Given the description of an element on the screen output the (x, y) to click on. 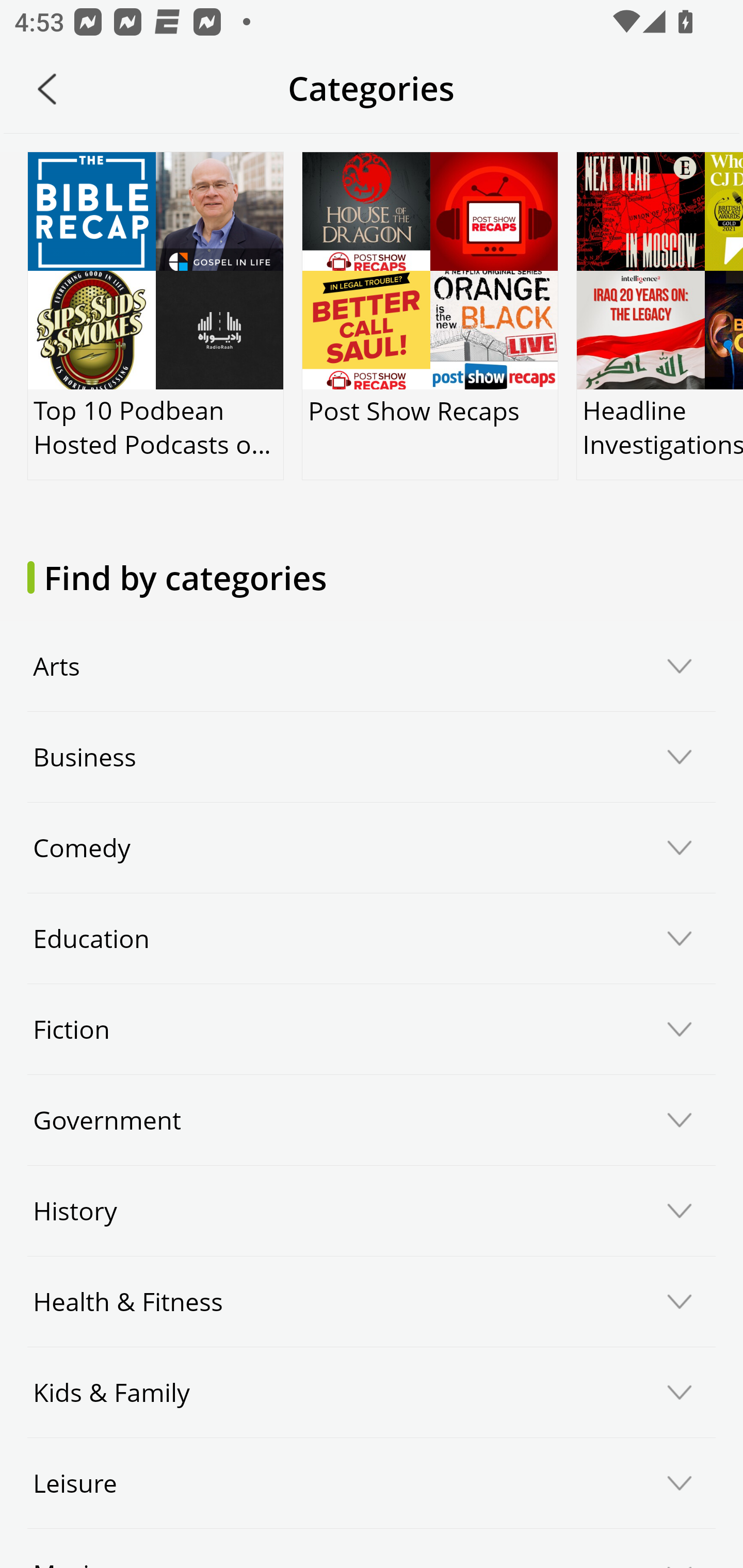
Back (46, 88)
Top 10 Podbean Hosted Podcasts of 2023 (155, 315)
Post Show Recaps (429, 315)
Headline Investigations (659, 315)
Arts (371, 665)
Business (371, 756)
Comedy (371, 847)
Education (371, 938)
Fiction (371, 1029)
Government (371, 1120)
History (371, 1210)
Health & Fitness (371, 1300)
Kids & Family (371, 1391)
Leisure (371, 1482)
